Given the description of an element on the screen output the (x, y) to click on. 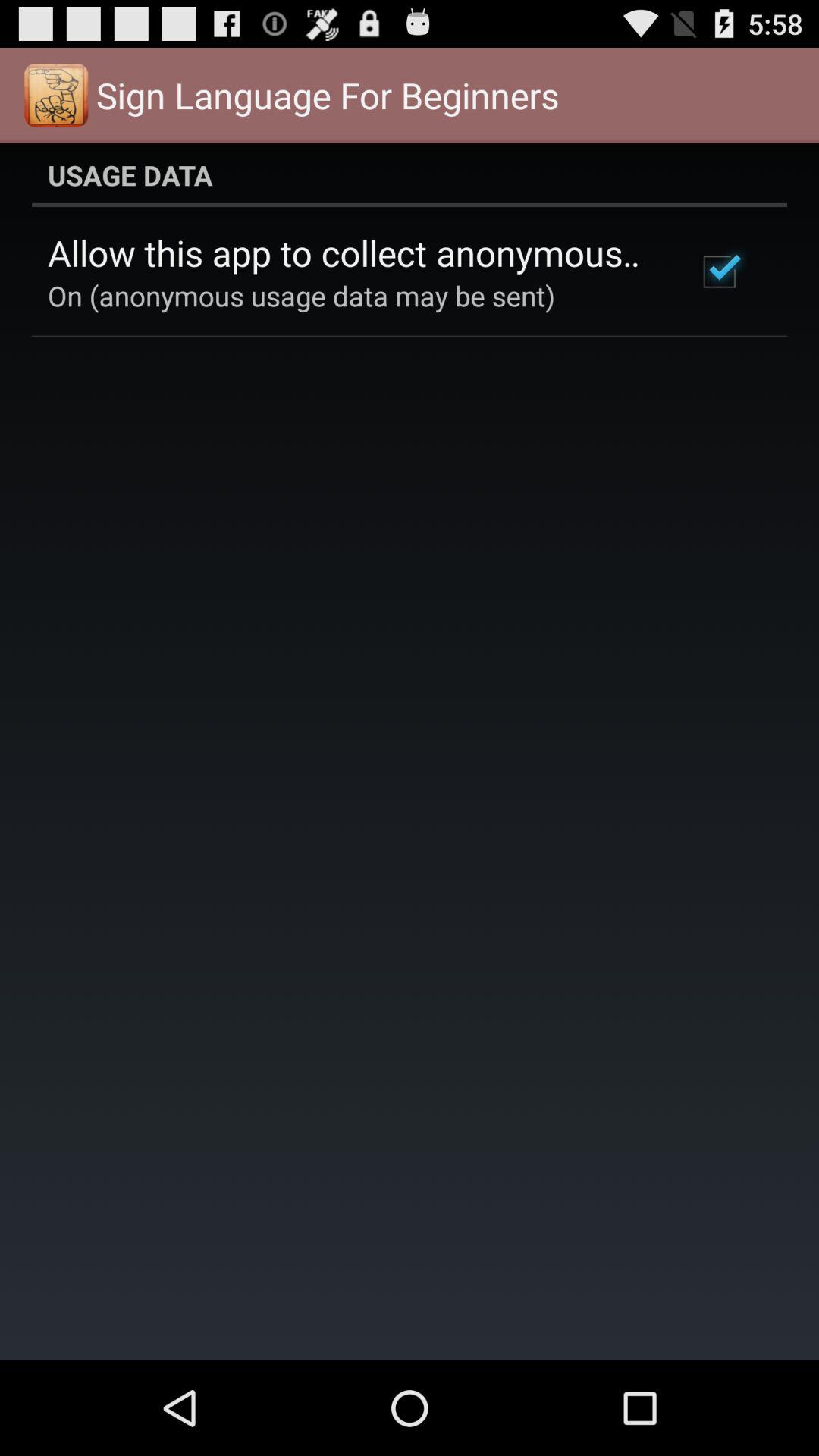
open the allow this app (351, 252)
